Given the description of an element on the screen output the (x, y) to click on. 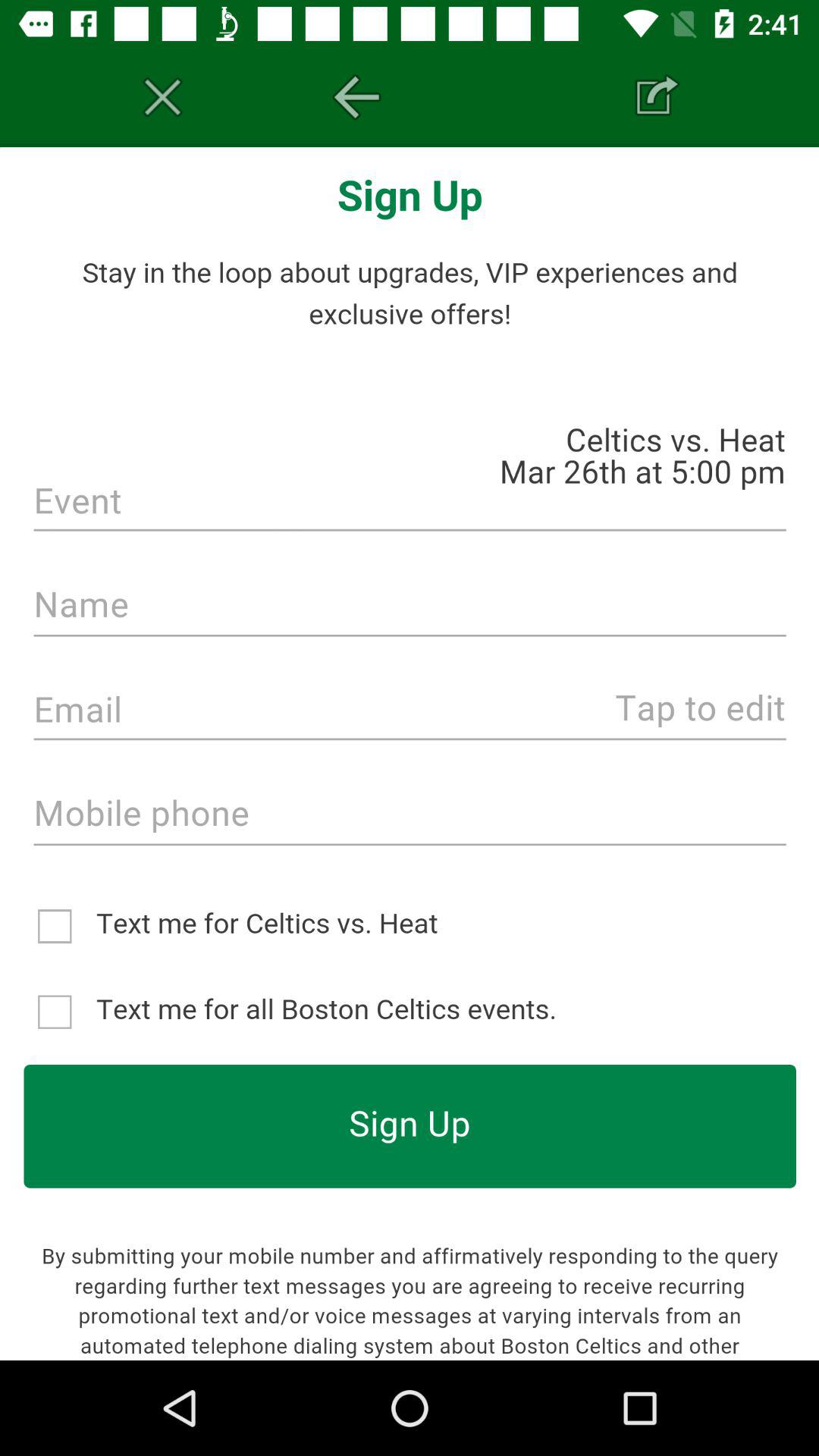
back button (356, 97)
